Given the description of an element on the screen output the (x, y) to click on. 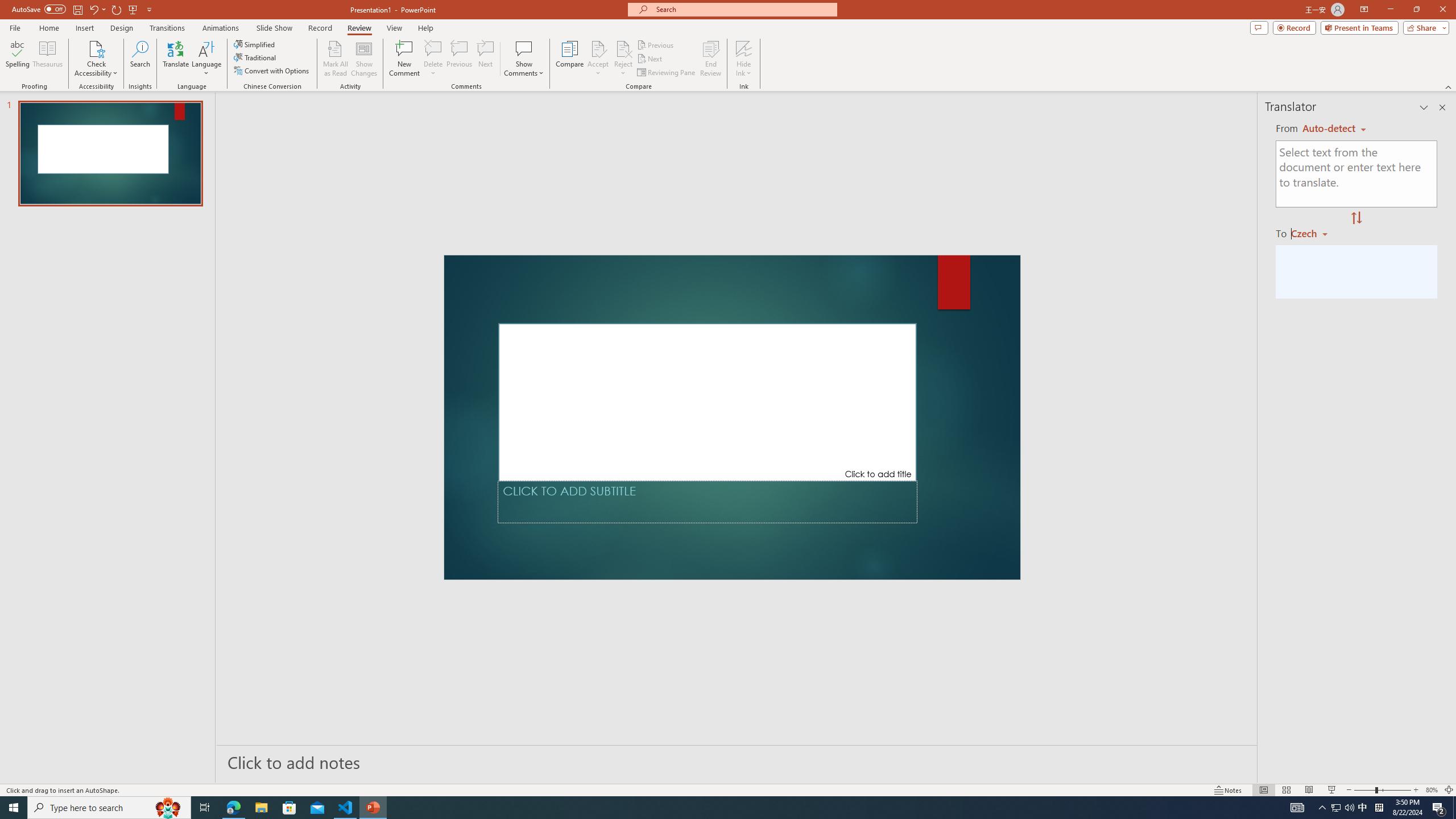
Show Changes (363, 58)
End Review (710, 58)
Translate (175, 58)
